Given the description of an element on the screen output the (x, y) to click on. 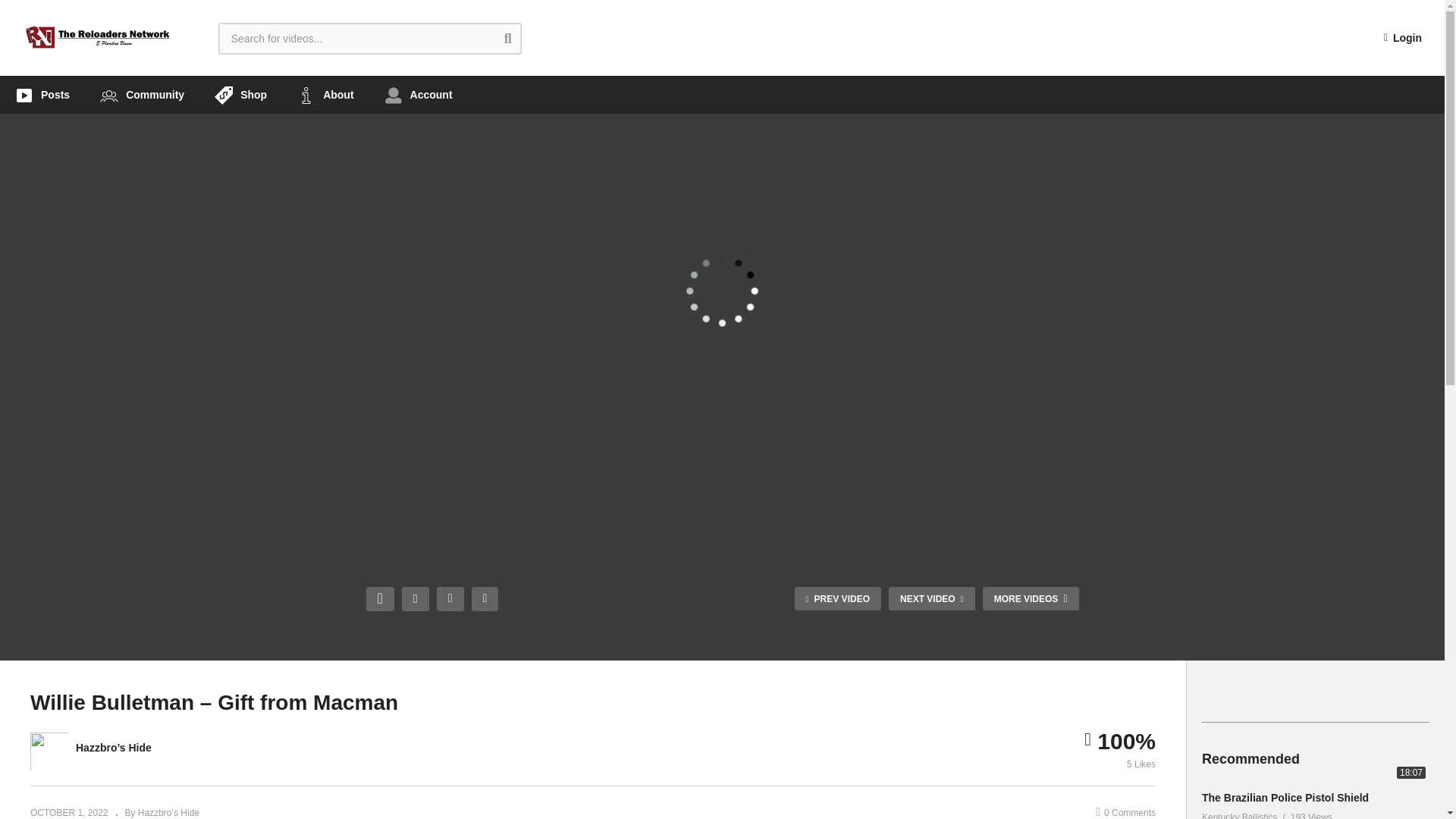
About (325, 94)
Watch Later (485, 598)
 Login (1402, 38)
SEARCH (519, 37)
Posts (42, 94)
SEARCH (519, 37)
The Reloaders Network (98, 37)
Community (141, 94)
Shop (240, 94)
